Given the description of an element on the screen output the (x, y) to click on. 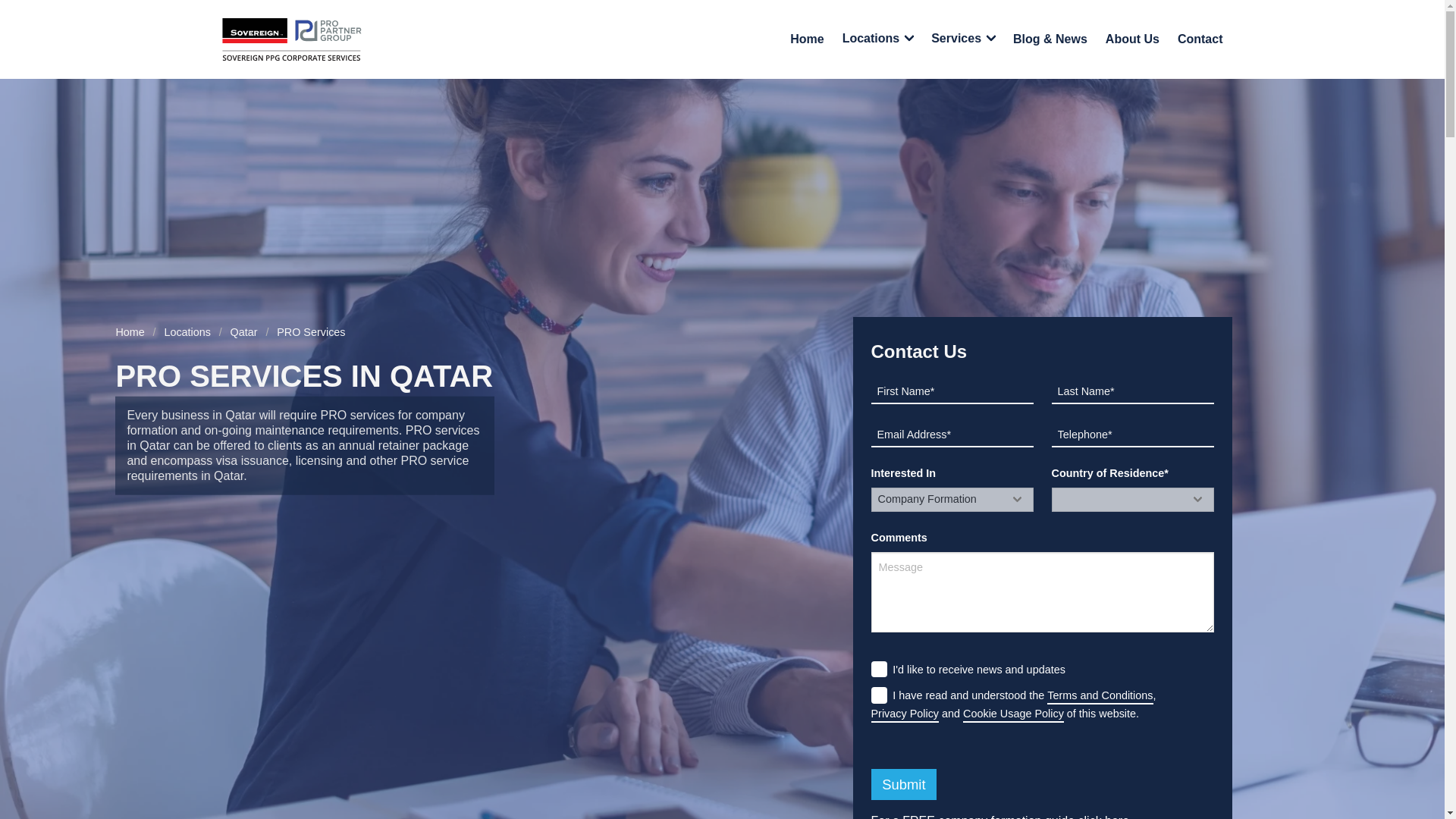
Privacy Policy (904, 714)
PRO Services (310, 332)
Cookie Usage Policy (1013, 714)
Home (133, 332)
Terms and Conditions (1099, 696)
click here (1103, 815)
Qatar (244, 332)
Submit (903, 784)
Locations (187, 332)
First Name (951, 392)
